Given the description of an element on the screen output the (x, y) to click on. 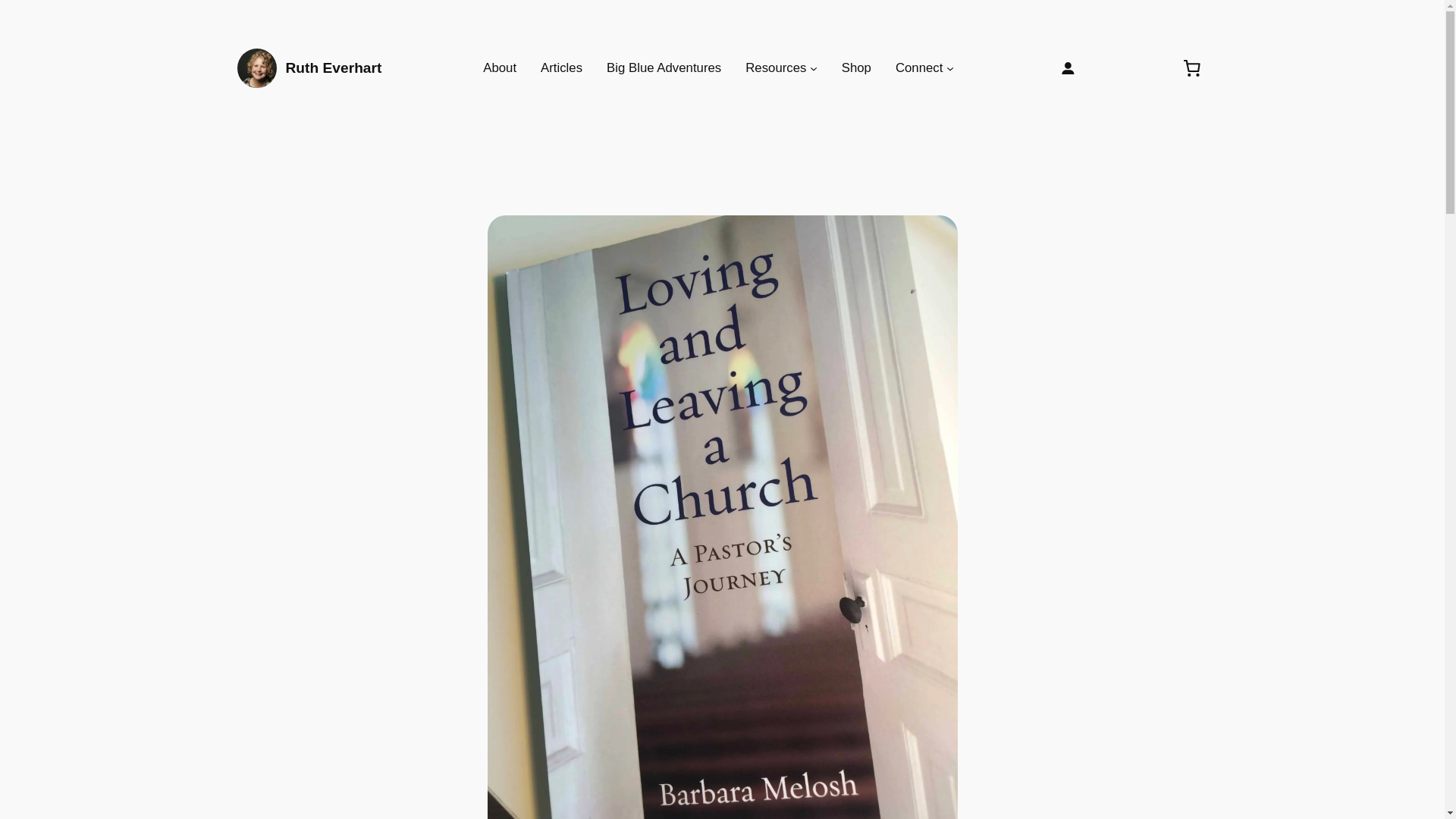
About (499, 67)
Big Blue Adventures (663, 67)
Resources (775, 67)
Ruth Everhart (333, 67)
Shop (855, 67)
Connect (919, 67)
Articles (561, 67)
